Given the description of an element on the screen output the (x, y) to click on. 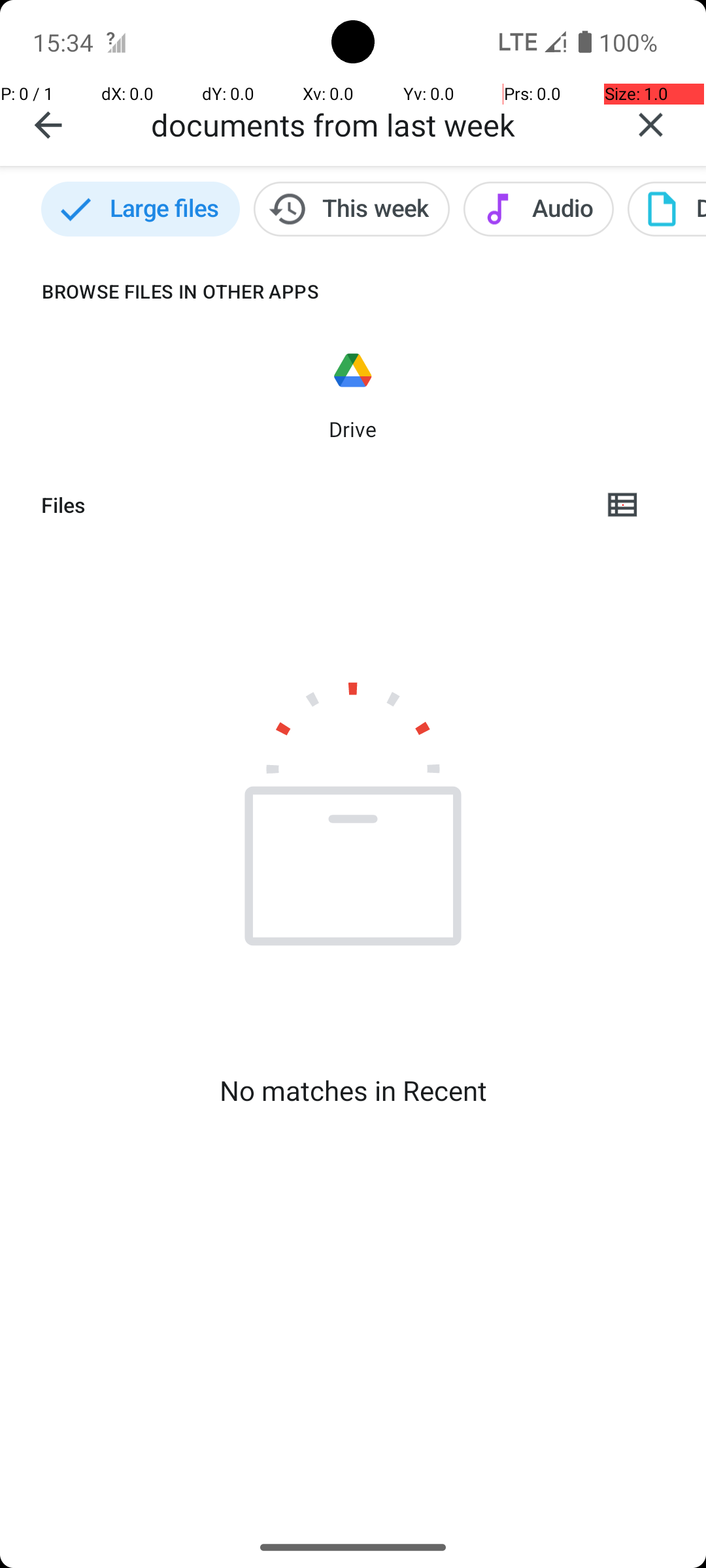
documents from last week Element type: android.widget.AutoCompleteTextView (373, 124)
